Given the description of an element on the screen output the (x, y) to click on. 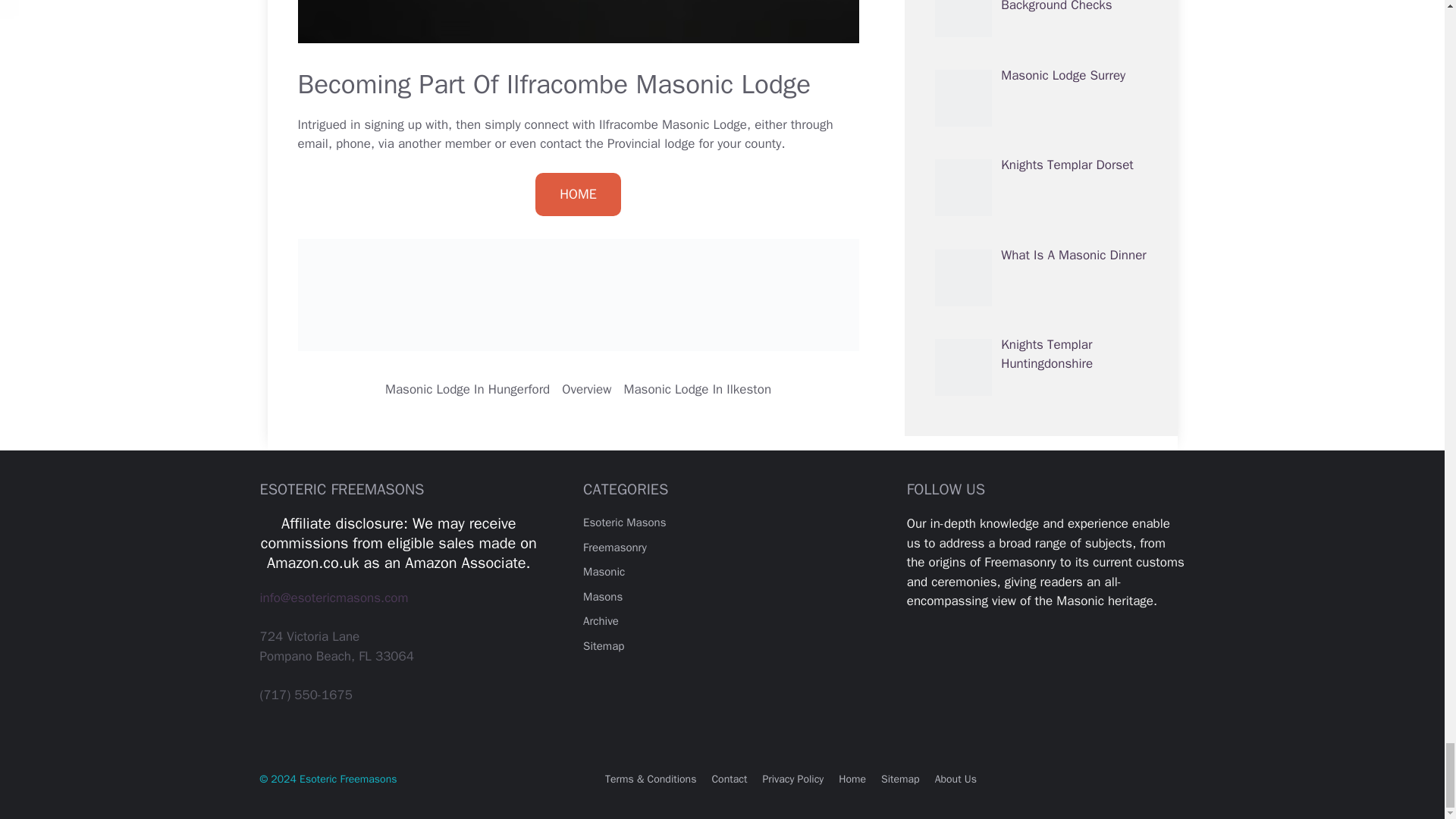
HOME (578, 194)
Masonic Lodge In Hungerford (467, 389)
Masonic Lodge In Ilkeston (697, 389)
Overview (586, 389)
